Given the description of an element on the screen output the (x, y) to click on. 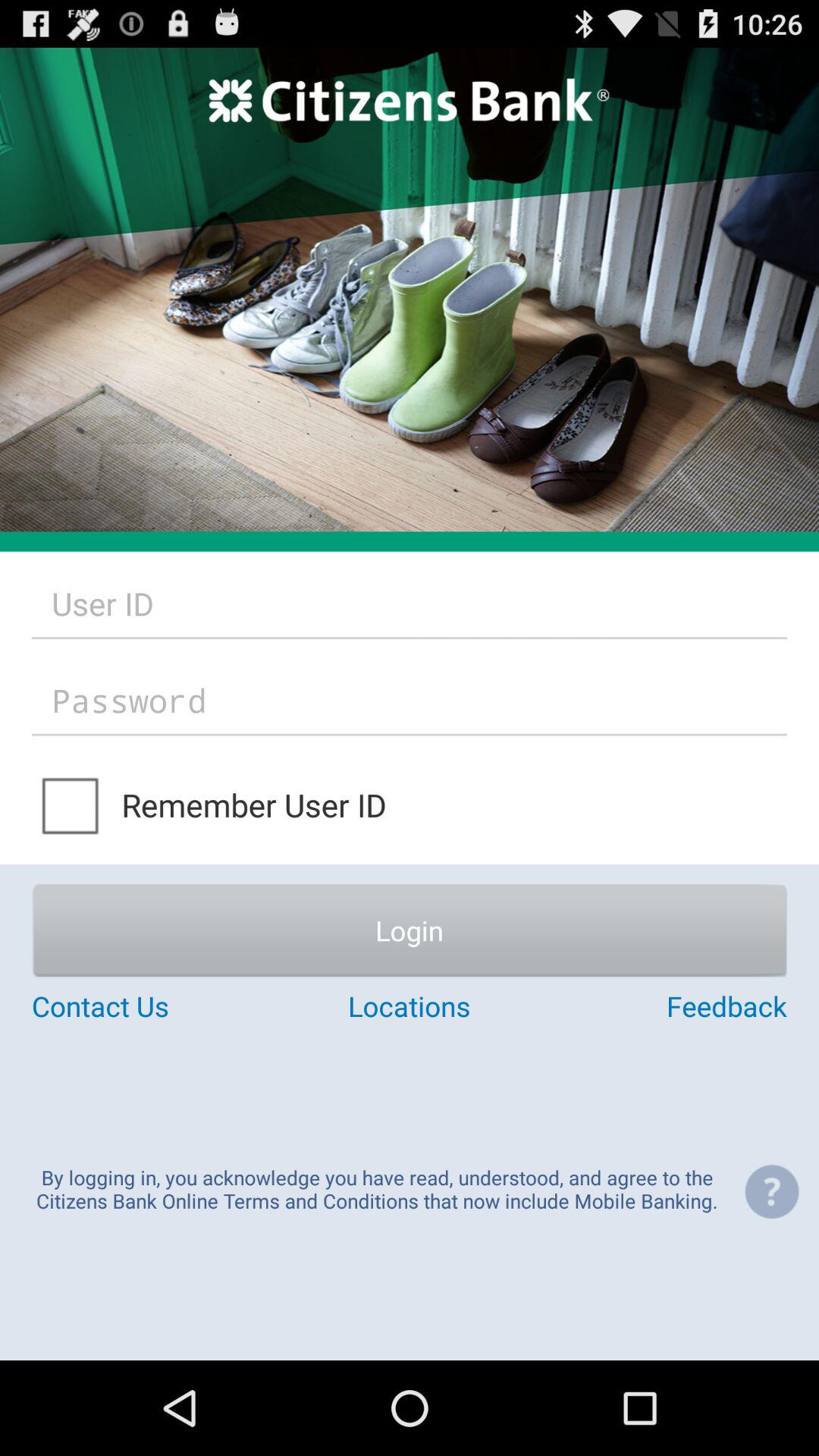
choose feedback icon (661, 1005)
